Given the description of an element on the screen output the (x, y) to click on. 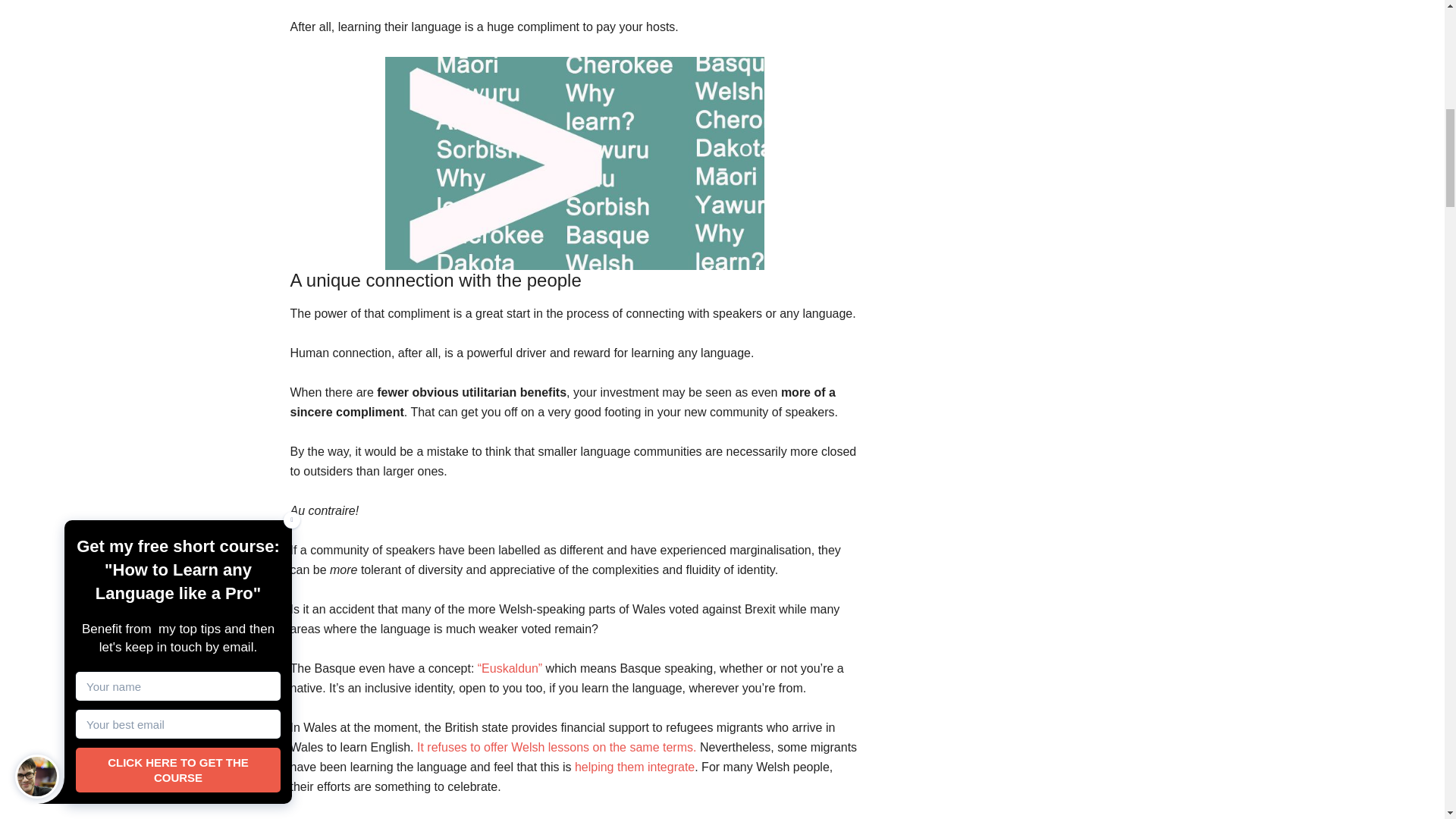
helping them integrate (634, 766)
It refuses to offer Welsh lessons on the same terms. (555, 747)
